Given the description of an element on the screen output the (x, y) to click on. 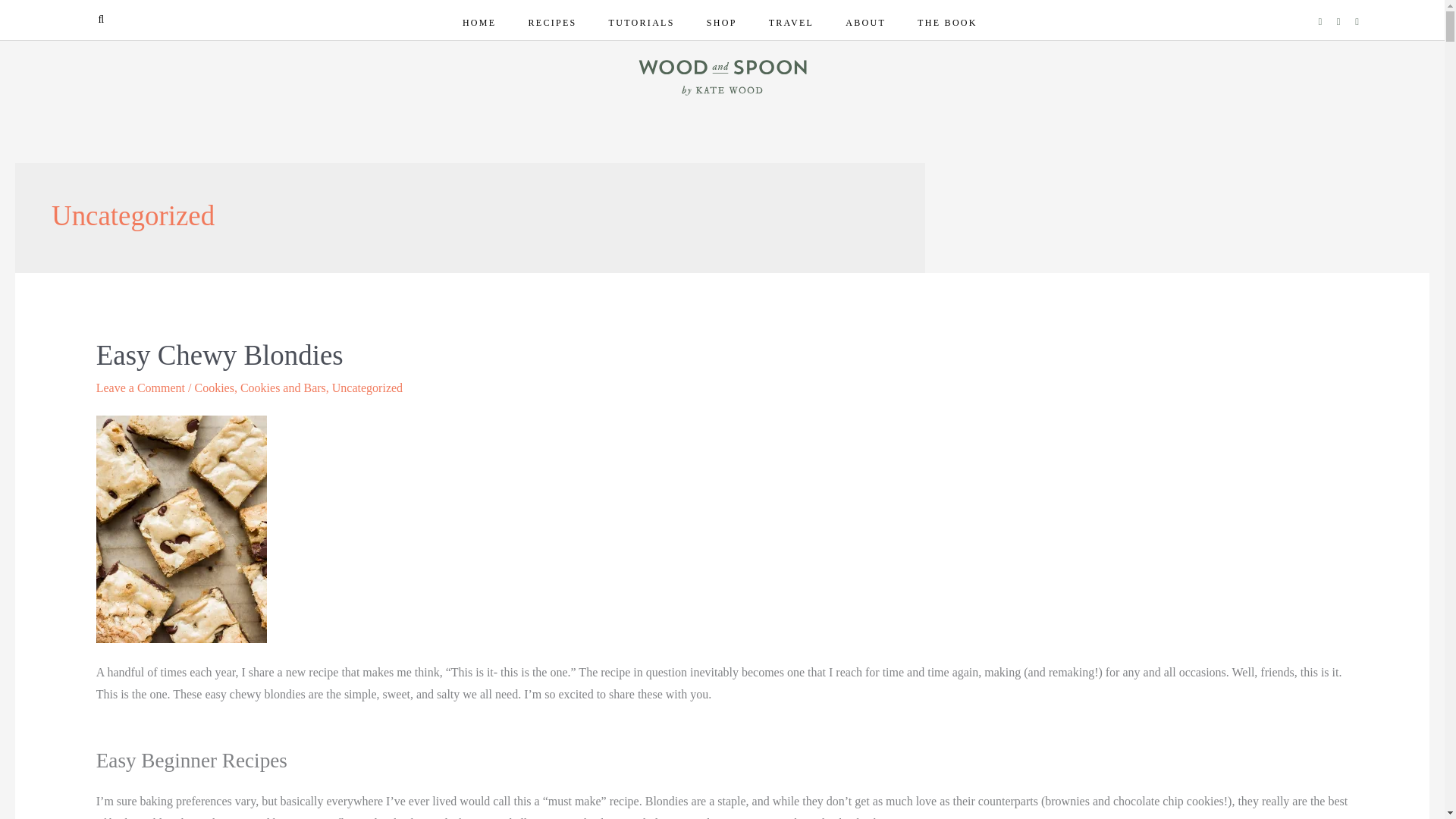
TUTORIALS (641, 22)
HOME (478, 22)
ABOUT (865, 22)
SHOP (721, 22)
TRAVEL (791, 22)
THE BOOK (947, 22)
RECIPES (551, 22)
